Given the description of an element on the screen output the (x, y) to click on. 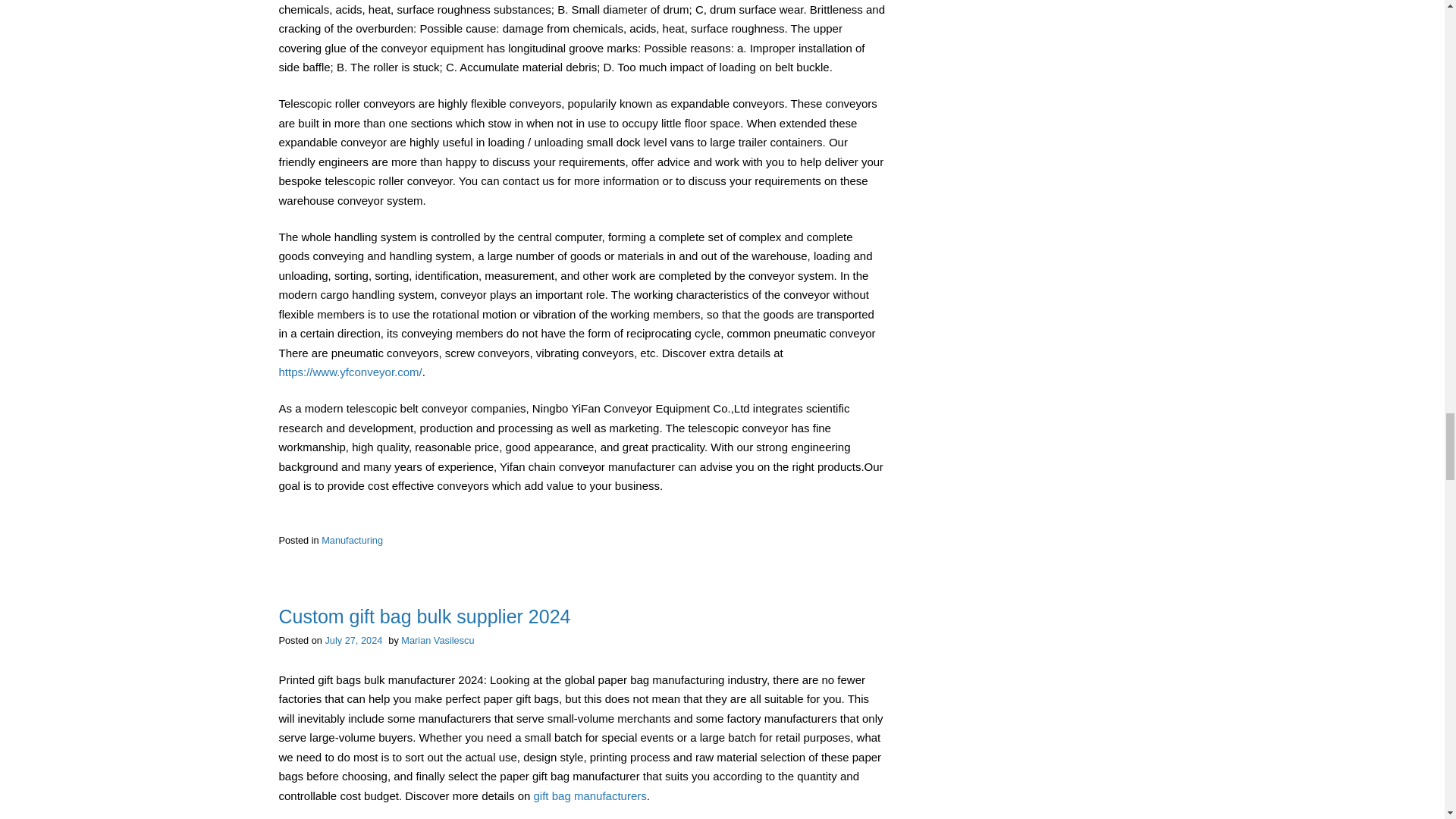
gift bag manufacturers (590, 795)
July 27, 2024 (352, 640)
Manufacturing (351, 540)
Custom gift bag bulk supplier 2024 (424, 616)
Marian Vasilescu (437, 640)
